Given the description of an element on the screen output the (x, y) to click on. 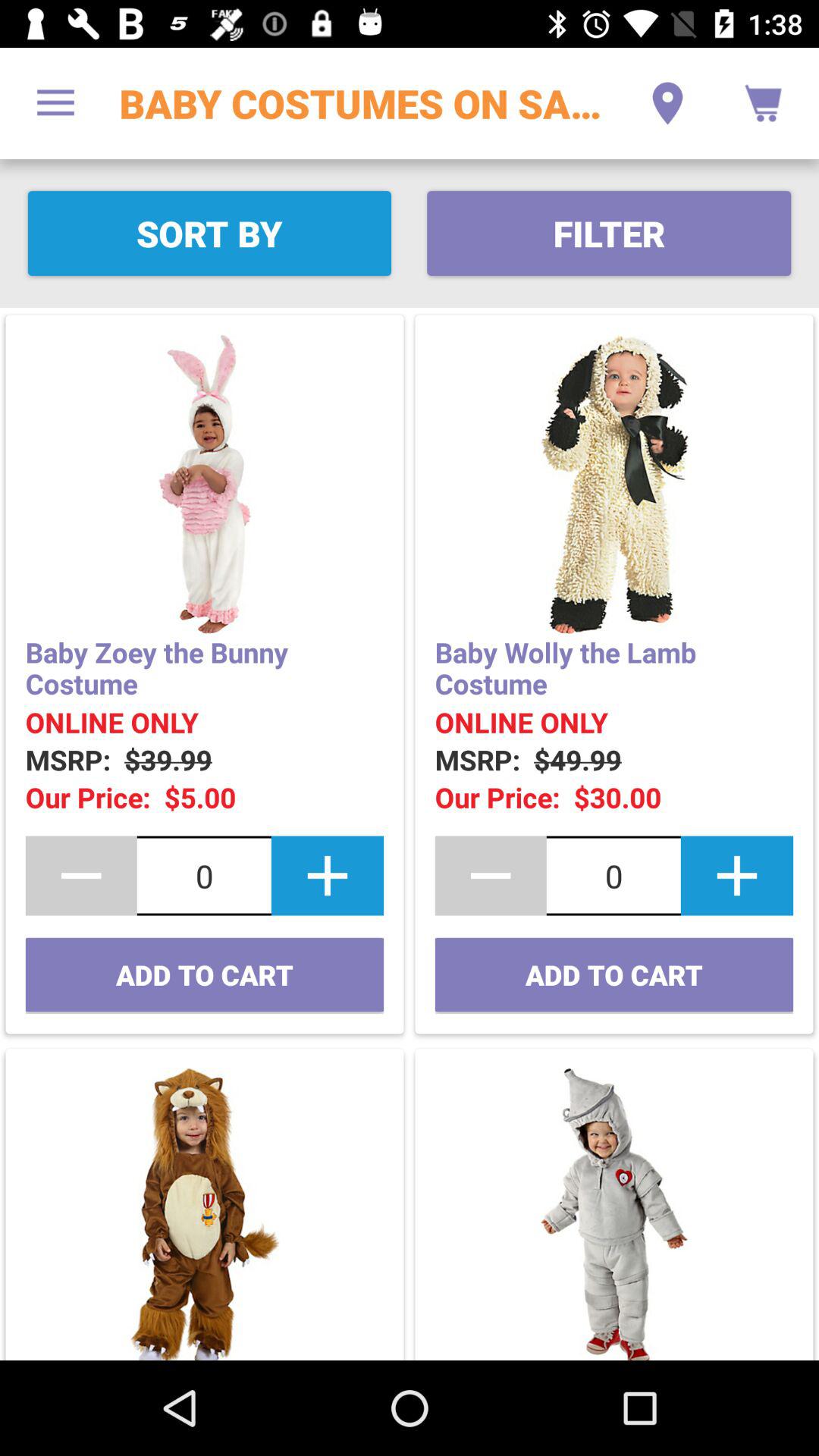
tap the app to the right of baby costumes on app (667, 103)
